Given the description of an element on the screen output the (x, y) to click on. 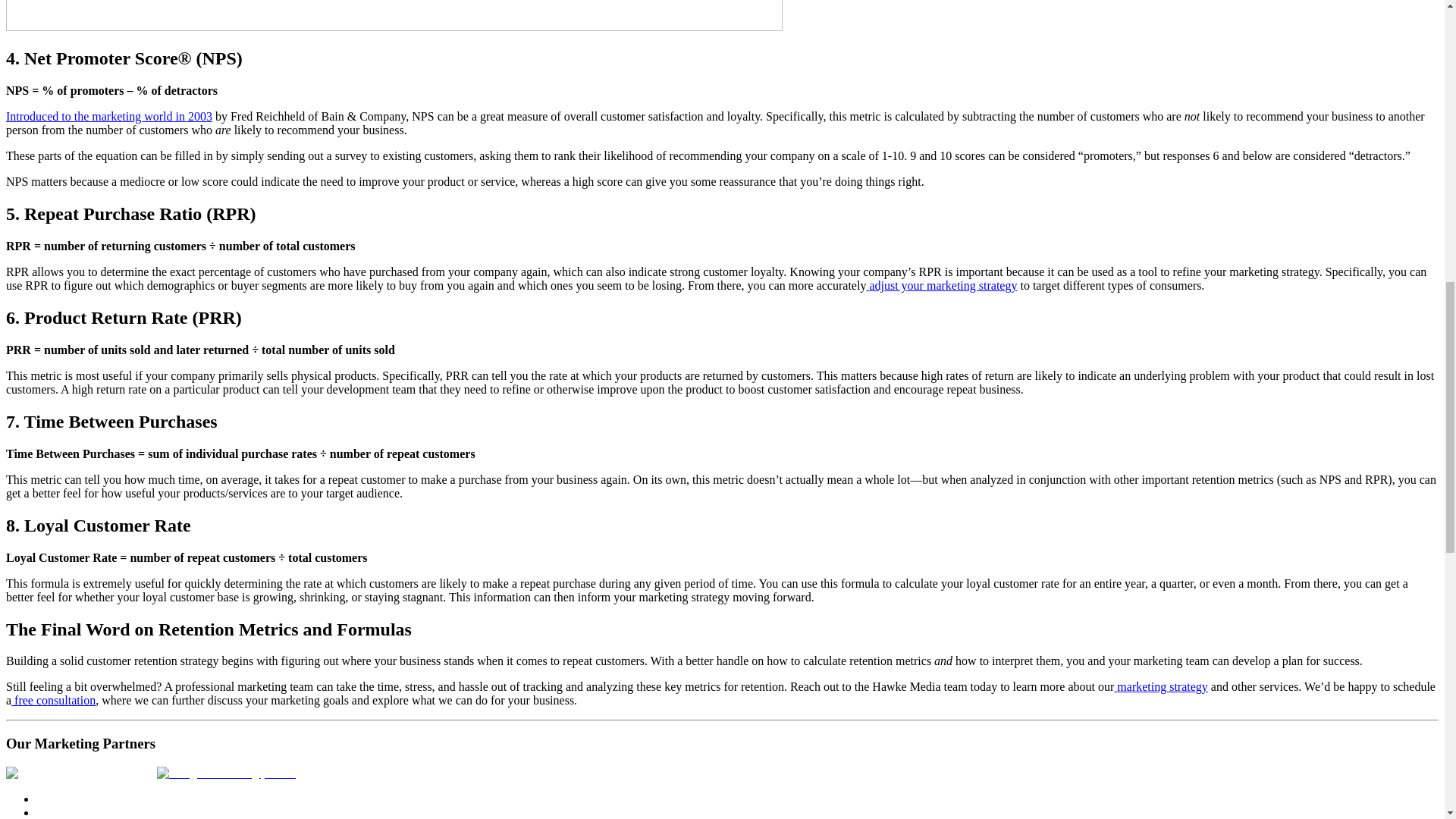
free consultation (53, 699)
Google Marketing Partner (226, 773)
Introduced to the marketing world in 2003 (108, 115)
adjust your marketing strategy (941, 285)
marketing strategy (1160, 686)
Microsoft Marketing Partner (81, 773)
